Given the description of an element on the screen output the (x, y) to click on. 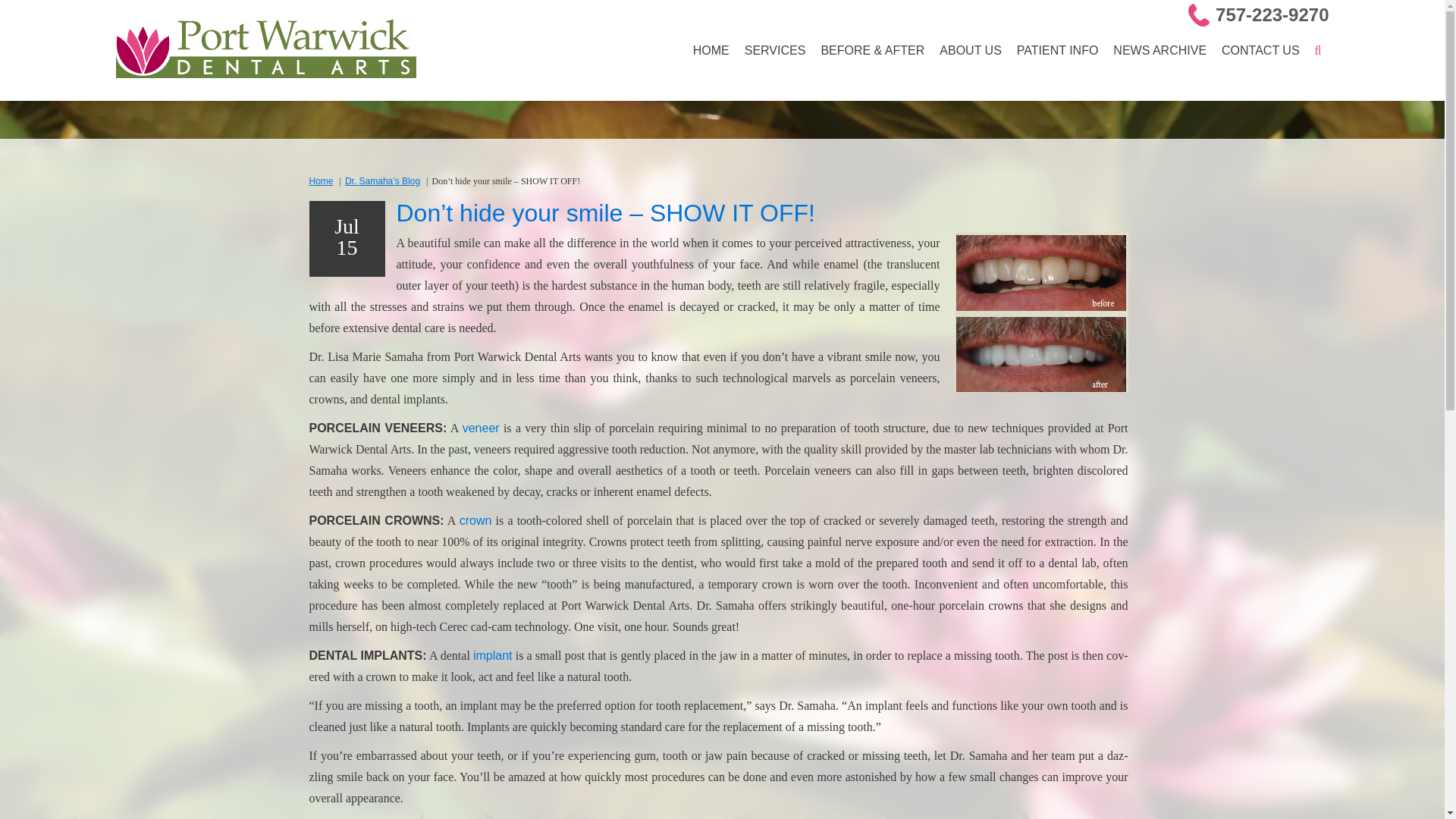
ABOUT US (970, 50)
HOME (710, 50)
757-223-9270 (1271, 15)
SERVICES (774, 50)
PATIENT INFO (1057, 50)
